Given the description of an element on the screen output the (x, y) to click on. 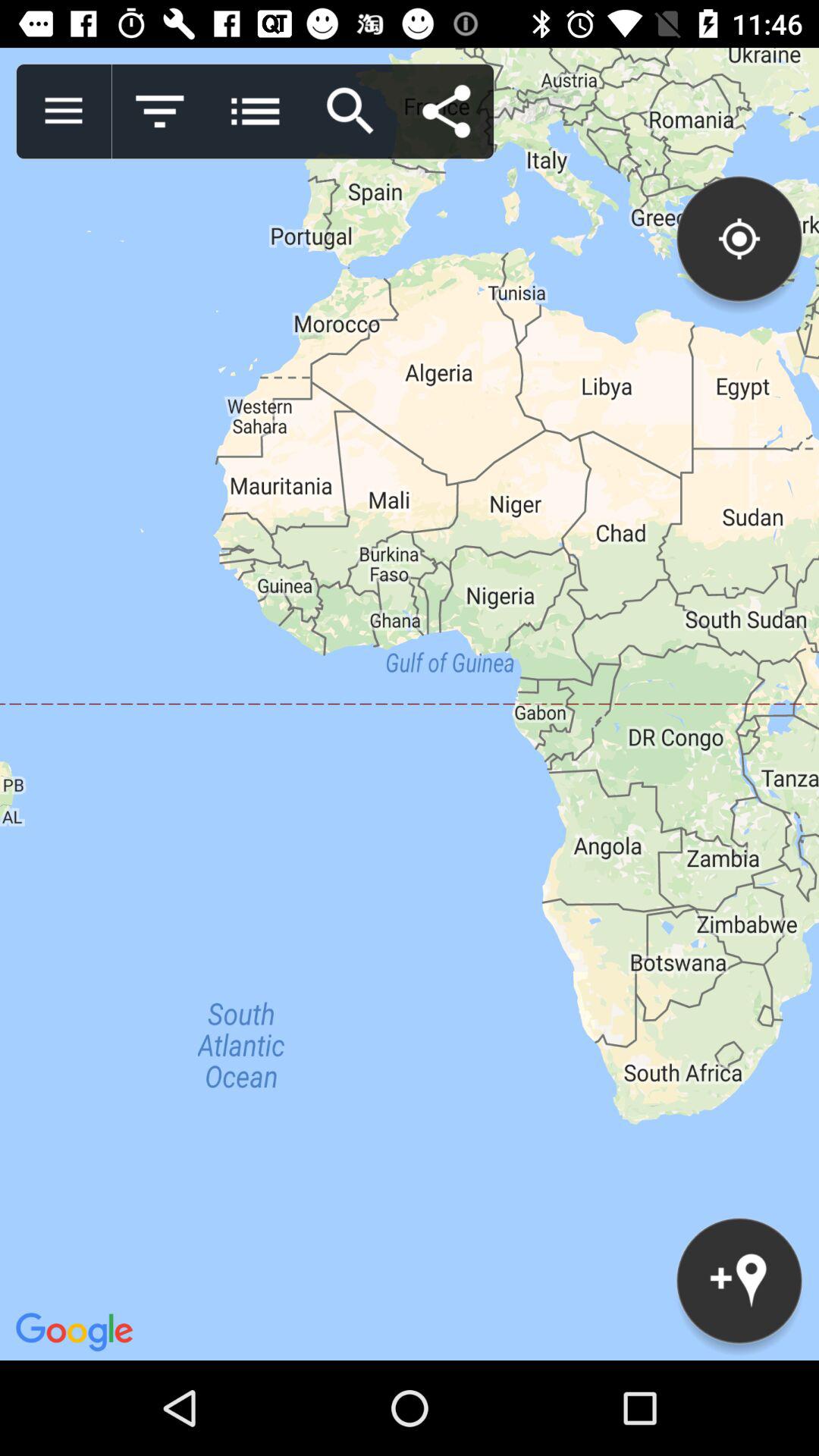
menu (255, 111)
